Given the description of an element on the screen output the (x, y) to click on. 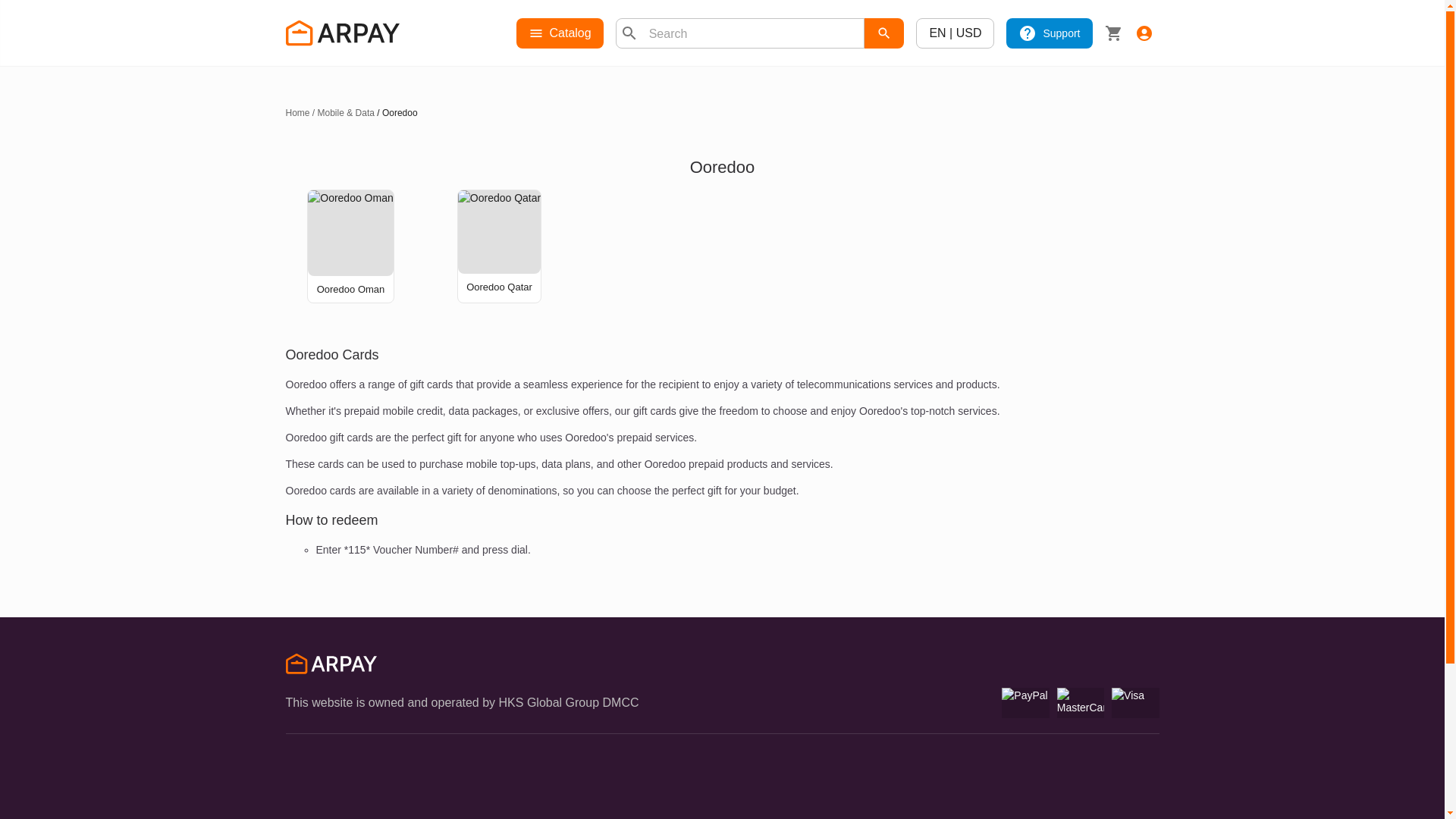
profile (1143, 33)
Home (296, 112)
Ooredoo Qatar (498, 286)
Ooredoo Oman (350, 233)
Ooredoo Oman (351, 288)
home-breadcrumb (296, 112)
Support (1049, 33)
Ooredoo Qatar (498, 286)
PayPal (1024, 702)
Visa (1135, 702)
Catalog (558, 33)
cart (1112, 33)
ar-pay.com (330, 665)
Ooredoo Qatar (499, 231)
ar-pay.com (341, 32)
